Given the description of an element on the screen output the (x, y) to click on. 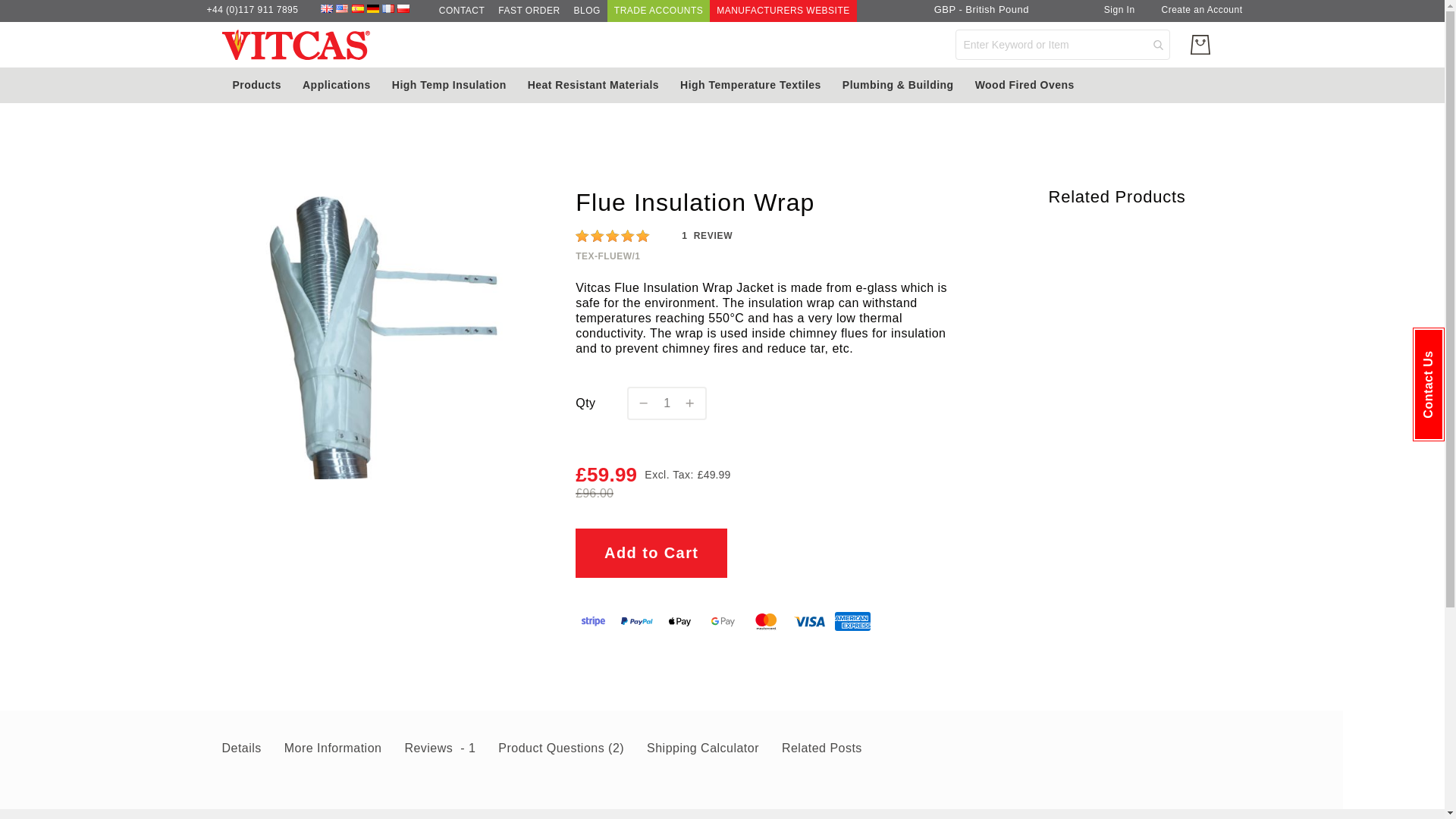
Sign In (1119, 11)
TRADE ACCOUNTS (658, 11)
MANUFACTURERS WEBSITE (783, 11)
BLOG (587, 11)
My Cart (1199, 44)
TRADE ACCOUNTS (658, 11)
CONTACT (462, 11)
MANUFACTURERS WEBSITE (783, 11)
English (341, 9)
Sign In (1119, 9)
Deutsch (372, 9)
English (326, 9)
Polski (403, 9)
FAST ORDER (529, 11)
